Given the description of an element on the screen output the (x, y) to click on. 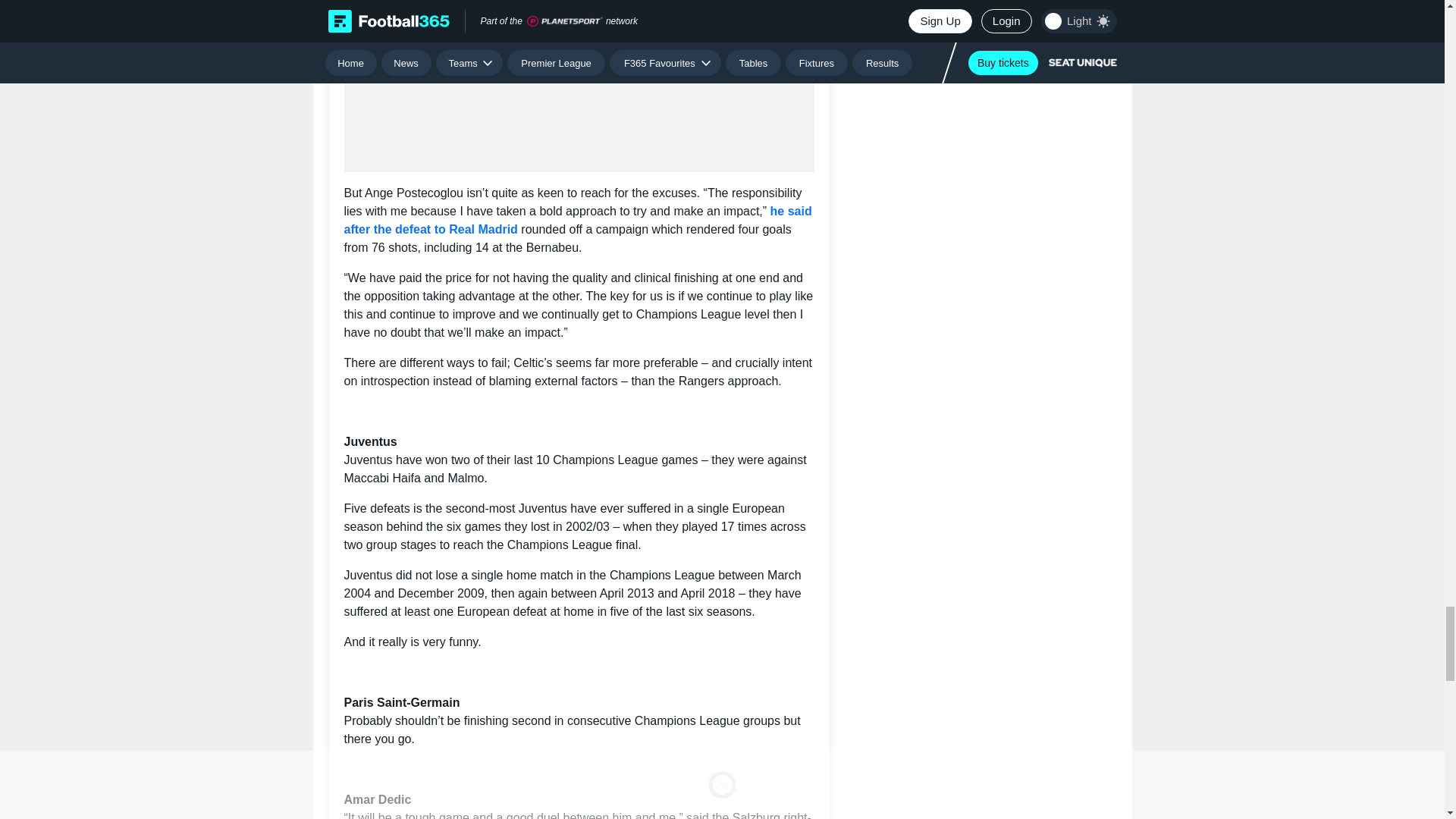
Ad (578, 85)
